Given the description of an element on the screen output the (x, y) to click on. 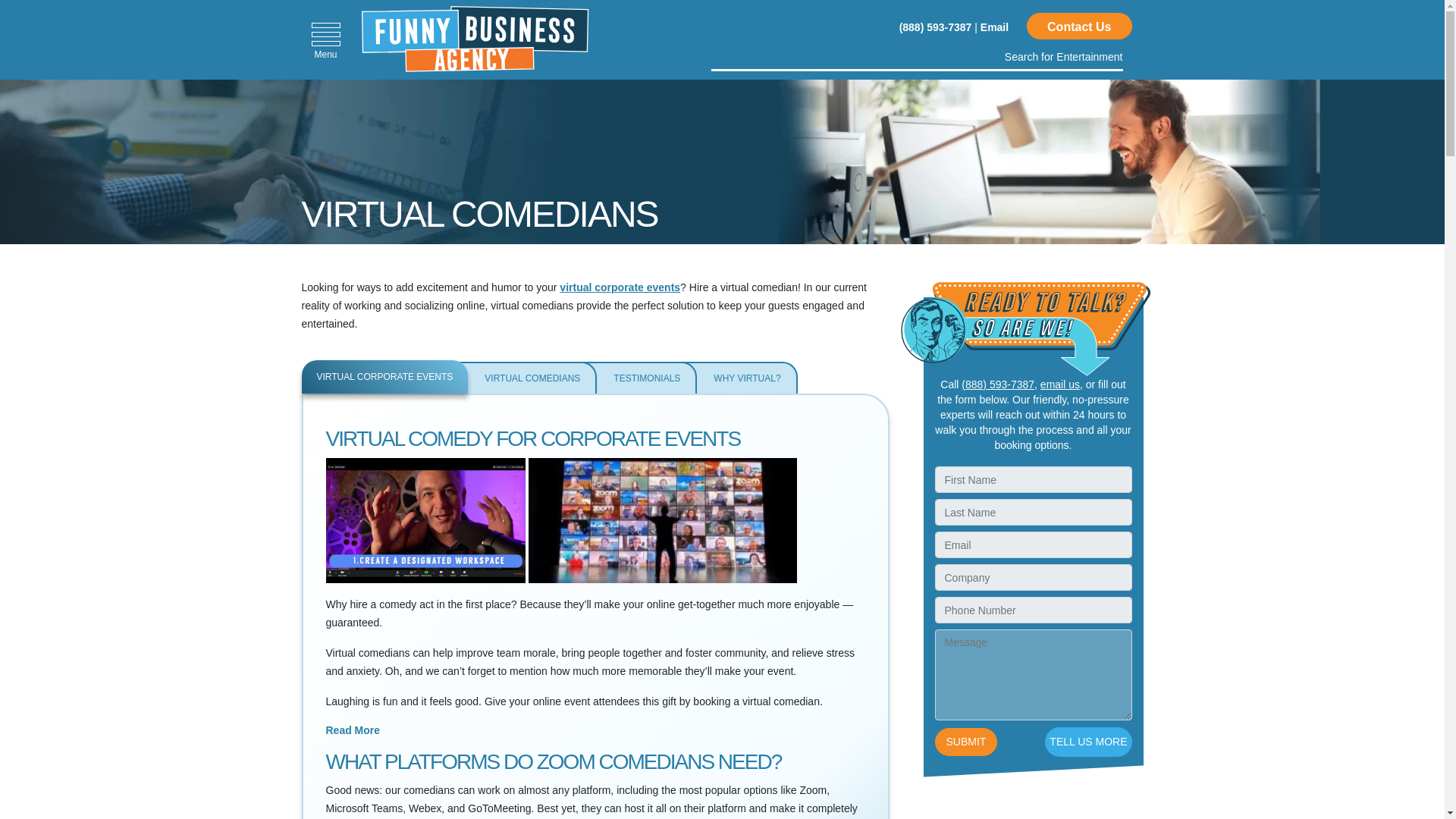
Contact Us (1078, 26)
Email (994, 27)
